Given the description of an element on the screen output the (x, y) to click on. 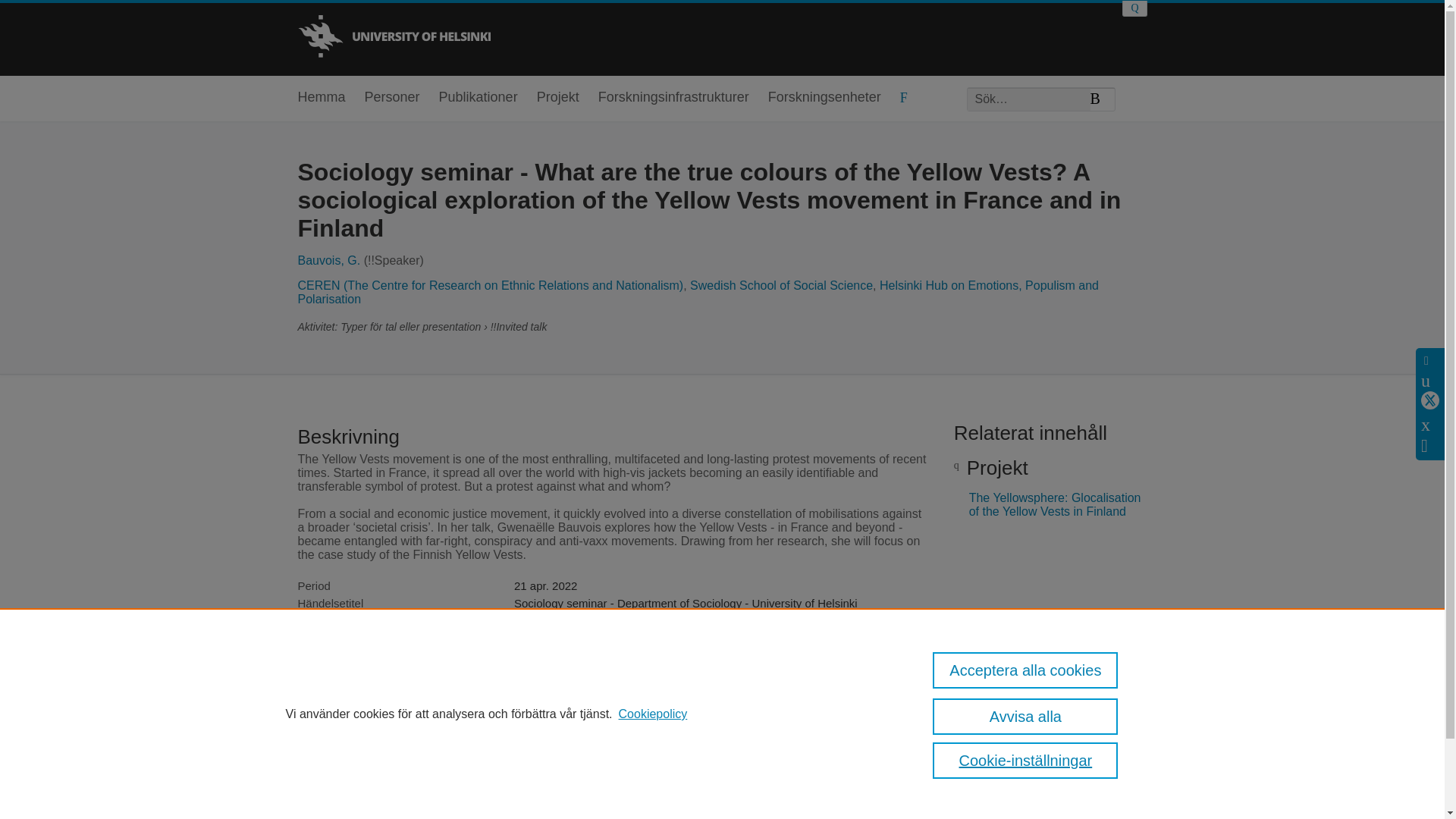
Helsingfors universitet Hemma (393, 37)
Elsevier B.V. (551, 763)
Personer (392, 98)
Scopus (378, 743)
Forskningsinfrastrukturer (673, 98)
X (1430, 400)
Kontakta oss (1118, 748)
Helsinki Hub on Emotions, Populism and Polarisation (698, 292)
Publikationer (478, 98)
Helsingfors universitet datalagringspolicy (973, 748)
Forskningsenheter (824, 98)
Bauvois, G. (328, 259)
Hemma (321, 98)
Projekt (558, 98)
